Given the description of an element on the screen output the (x, y) to click on. 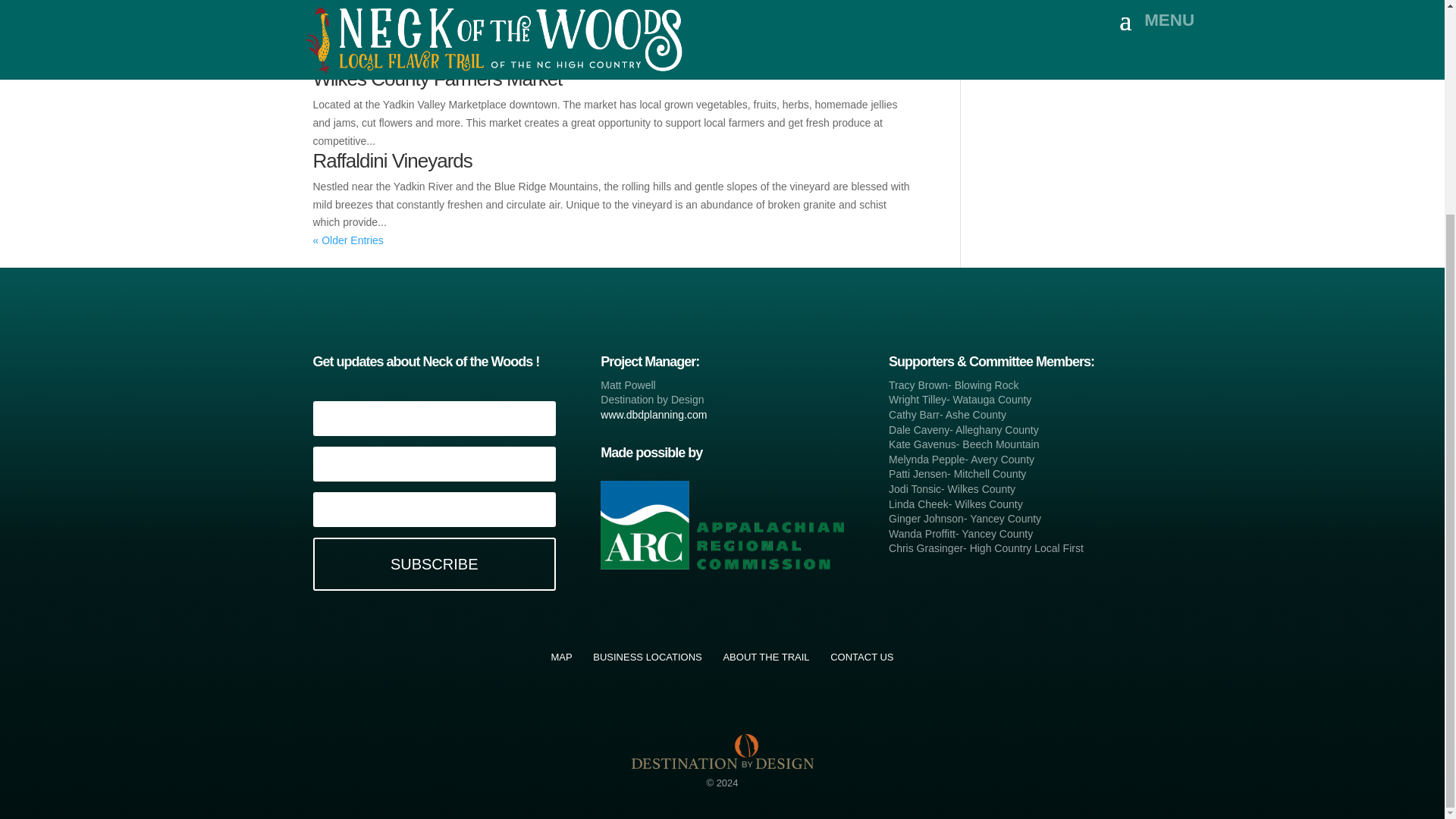
Raffaldini Vineyards (392, 160)
Wilkes County Farmers Market (437, 78)
CONTACT US (861, 656)
BUSINESS LOCATIONS (646, 656)
Menarick Vineyard and Winery (436, 15)
SUBSCRIBE (433, 563)
www.dbdplanning.com (652, 414)
ABOUT THE TRAIL (765, 656)
MAP (561, 656)
